Given the description of an element on the screen output the (x, y) to click on. 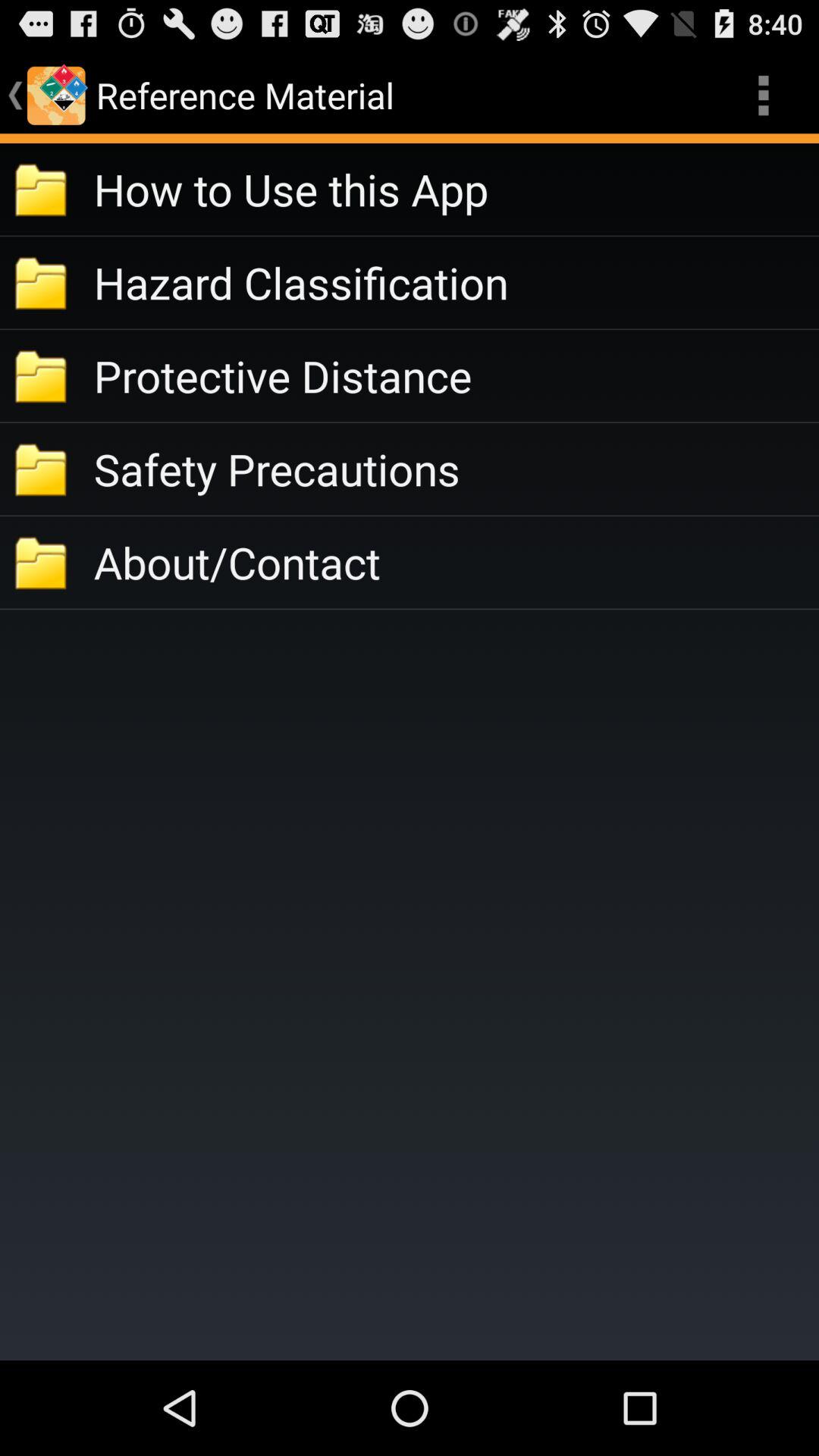
jump to protective distance app (456, 375)
